Given the description of an element on the screen output the (x, y) to click on. 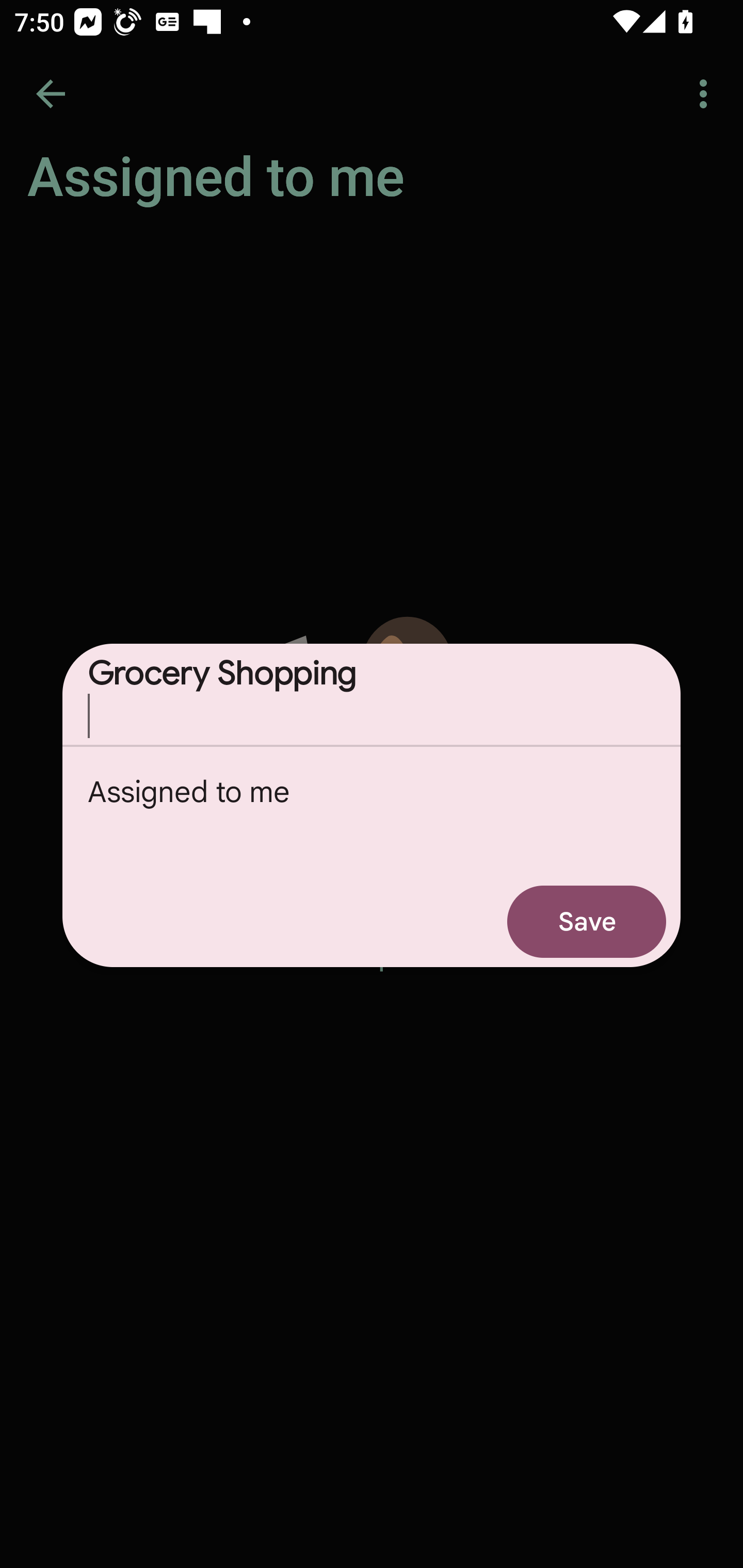
Grocery Shopping
 (371, 694)
Assigned to me
 (371, 811)
Save (586, 921)
